Given the description of an element on the screen output the (x, y) to click on. 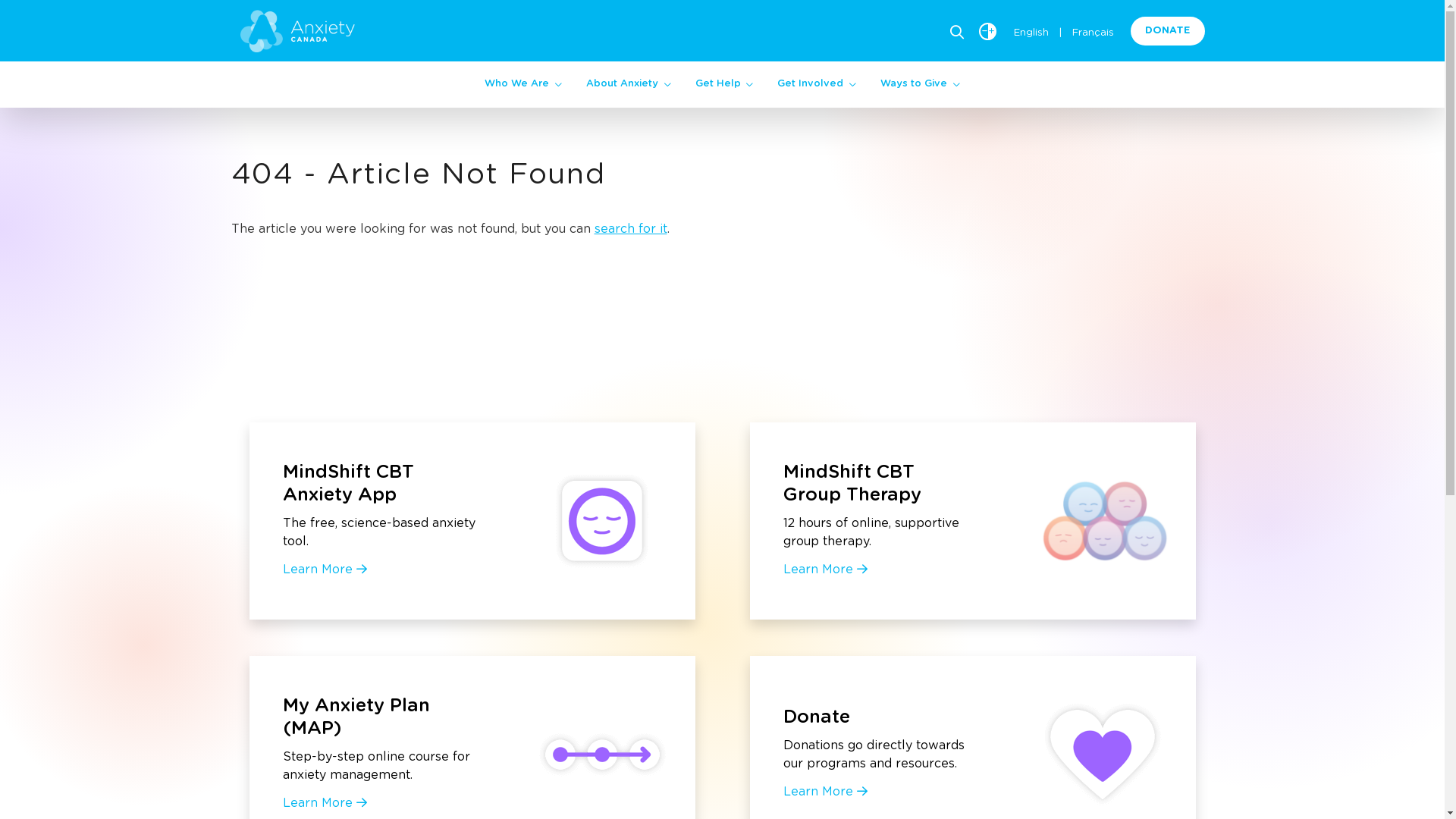
Who We Are Element type: text (523, 83)
About Anxiety Element type: text (628, 83)
Get Involved Element type: text (816, 83)
Ways to Give Element type: text (920, 83)
Get Help Element type: text (724, 83)
DONATE Element type: text (1167, 30)
search for it Element type: text (630, 228)
Toggle Contrast Mode Element type: text (987, 31)
